Given the description of an element on the screen output the (x, y) to click on. 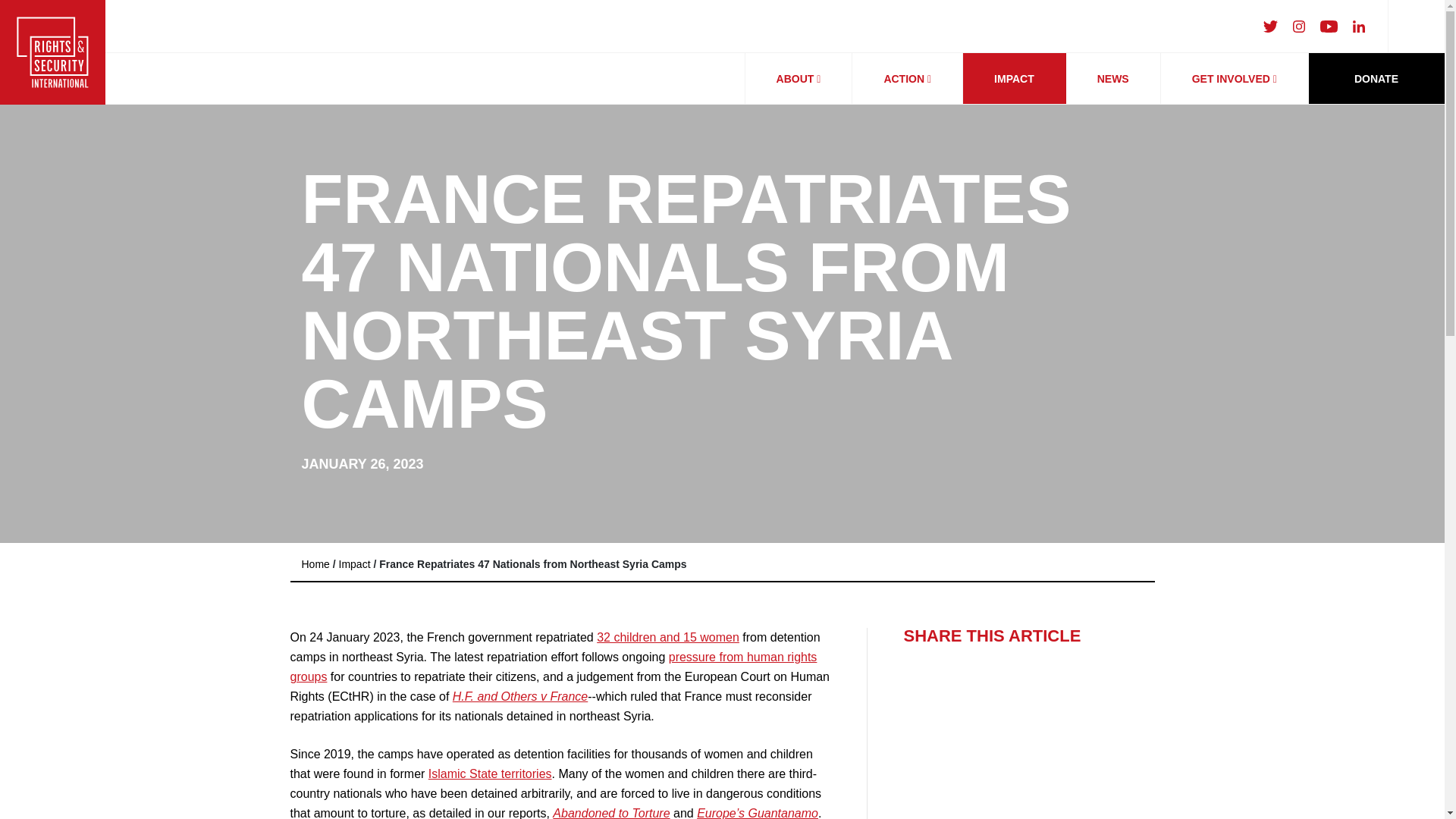
ABOUT (798, 78)
ACTION (906, 78)
pressure from human rights groups (552, 666)
Impact (355, 563)
Abandoned to Torture (611, 812)
32 children and 15 women (667, 636)
H.F. and Others v France (520, 696)
Home (315, 563)
NEWS (1112, 78)
GET INVOLVED (1233, 78)
